Given the description of an element on the screen output the (x, y) to click on. 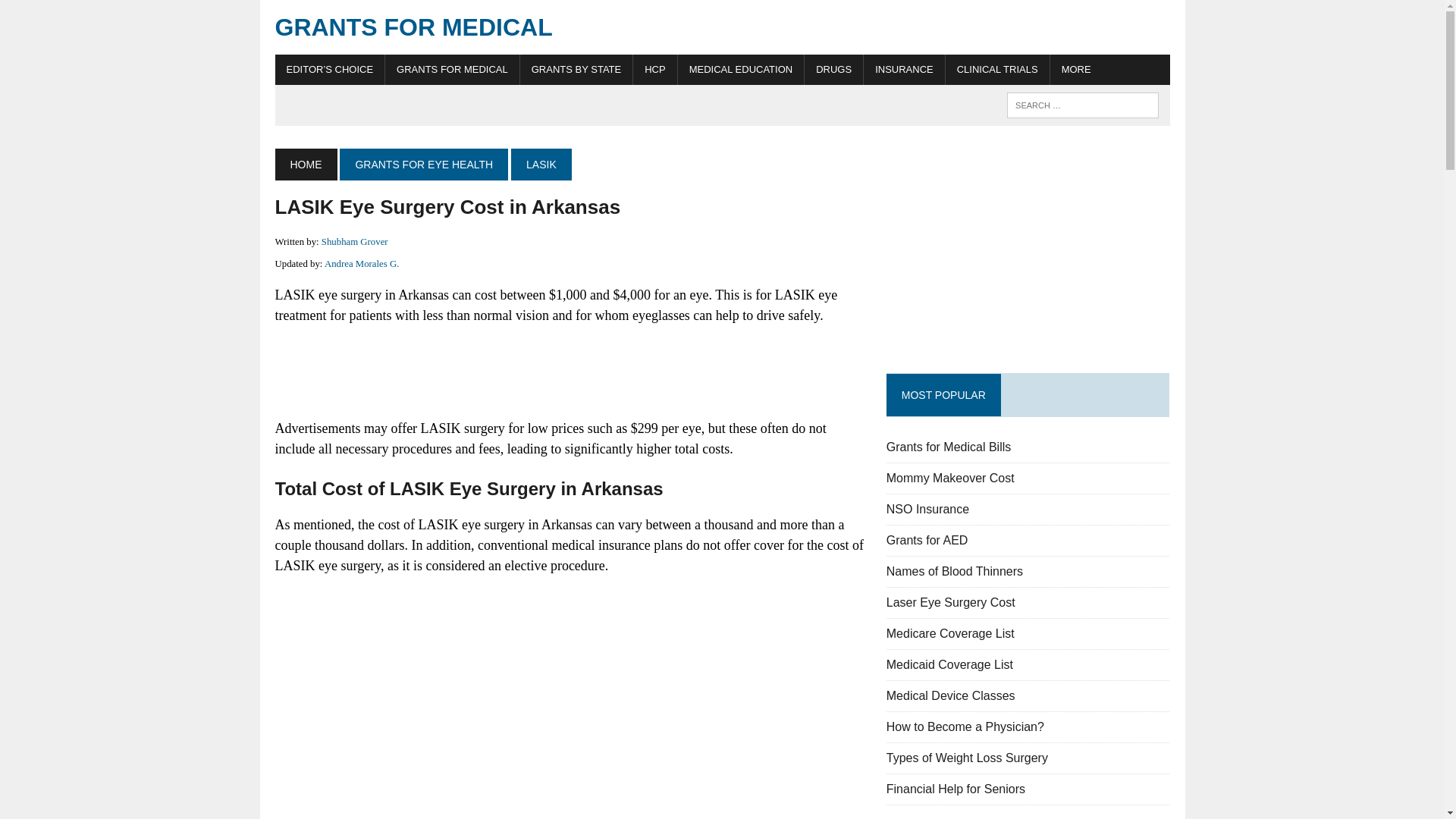
Grants for Medical (722, 27)
Andrea Morales G. (361, 263)
Explore our medical (1075, 69)
Shubham Grover (354, 241)
GRANTS FOR MEDICAL (722, 27)
